Given the description of an element on the screen output the (x, y) to click on. 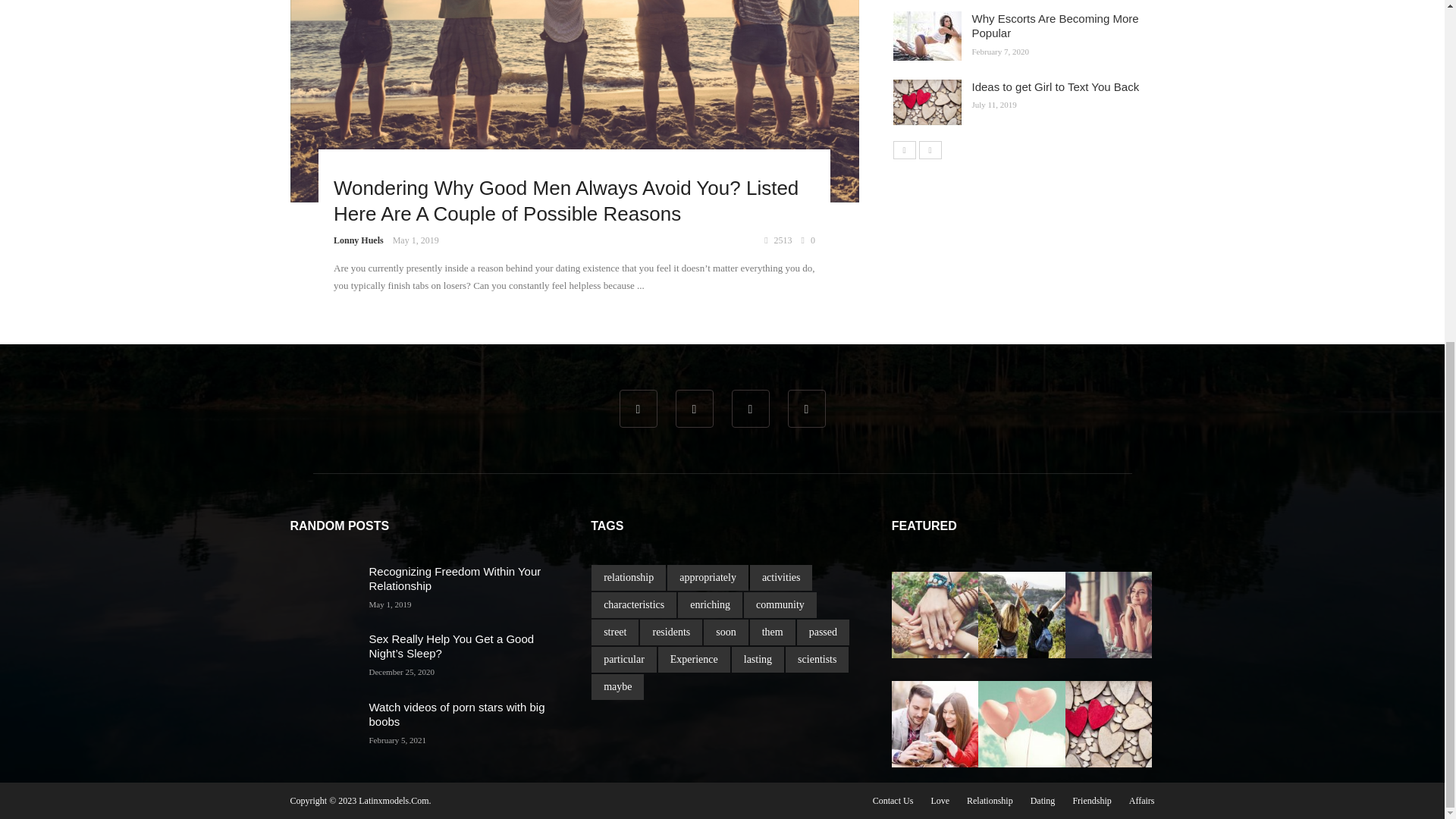
Why Escorts Are Becoming More Popular (1055, 26)
Next (930, 149)
Lonny Huels (358, 240)
Previous (904, 149)
